Given the description of an element on the screen output the (x, y) to click on. 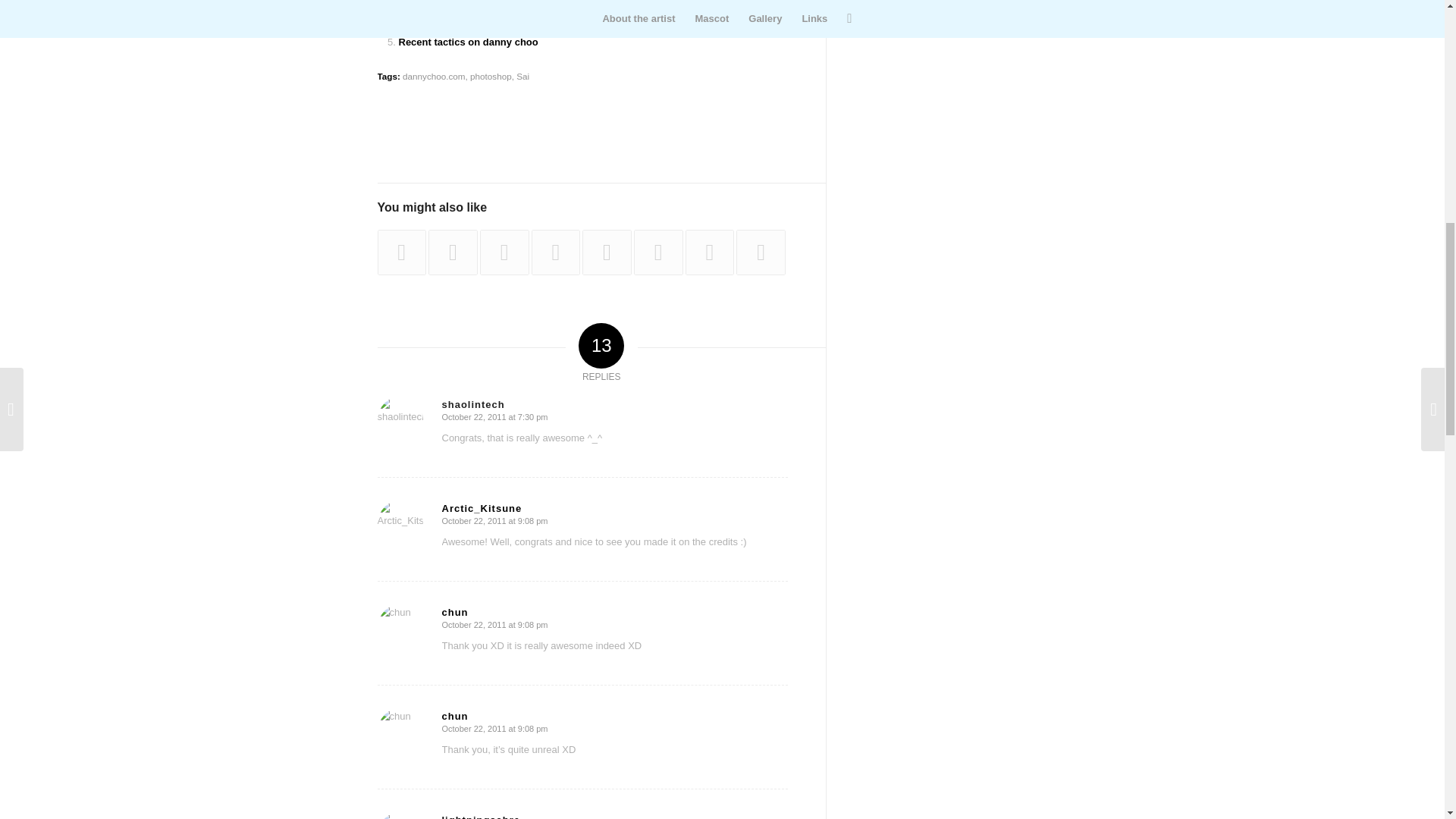
Recent tactics on danny choo (468, 41)
Hatsune Miku fan art 2015 (452, 252)
Sai (522, 76)
photoshop (491, 76)
Recent tactics on danny choo (468, 41)
dannychoo.com (434, 76)
Mirai Suenaga fan art for culture:japan (488, 21)
Seeing Red (401, 252)
Mirai Suenaga fan art for culture:japan (488, 21)
